Given the description of an element on the screen output the (x, y) to click on. 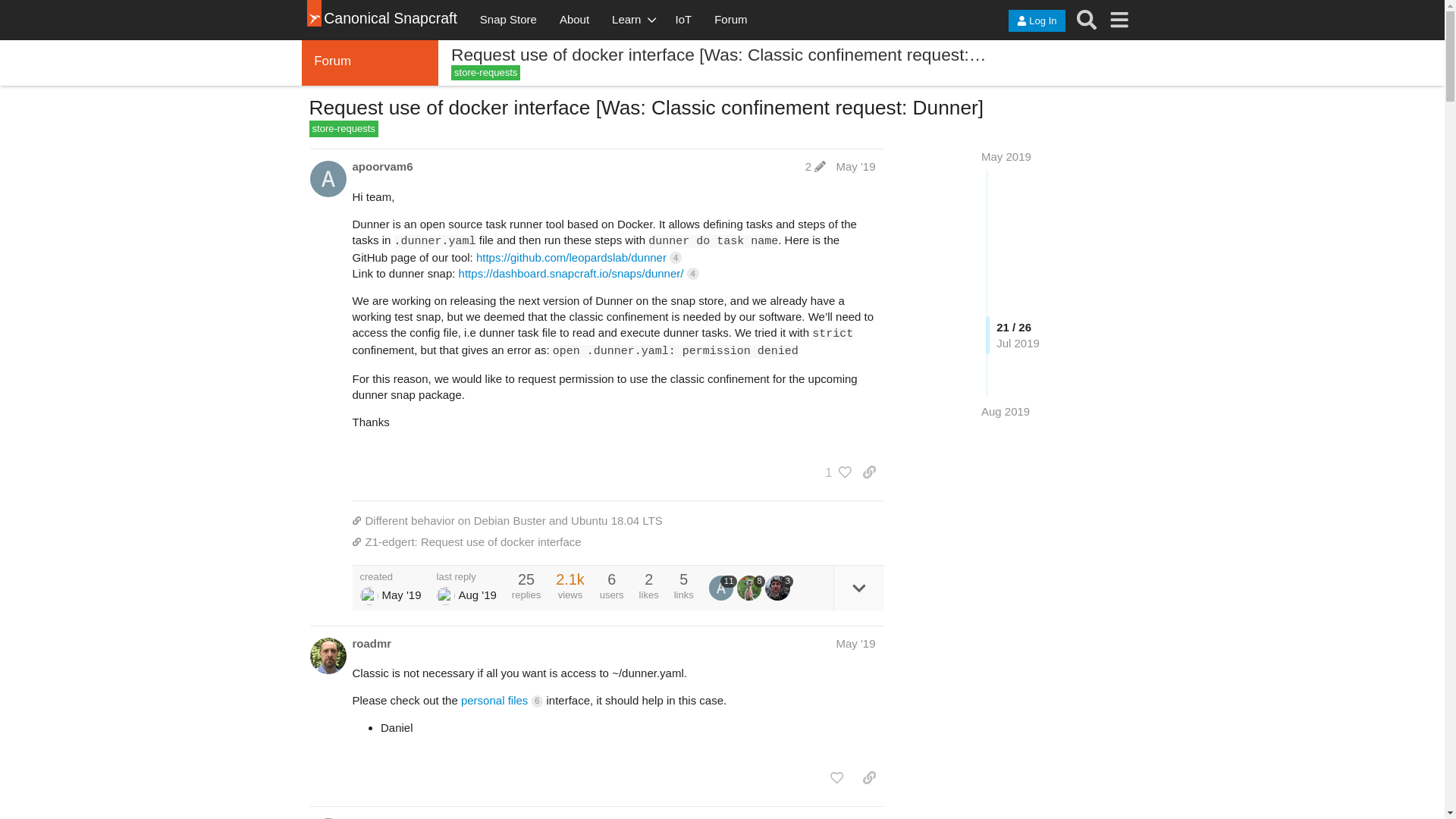
Canonical Snapcraft (387, 20)
Apoorva (368, 596)
11 (722, 587)
IoT (683, 20)
4 clicks (675, 257)
share a link to this post (869, 472)
Log In (1036, 20)
1 person liked this post (833, 472)
store-requests (343, 128)
Forum (730, 20)
8 (750, 587)
Post date (855, 165)
Z1-edgert: Request use of docker interface (617, 541)
Learn (631, 20)
